Given the description of an element on the screen output the (x, y) to click on. 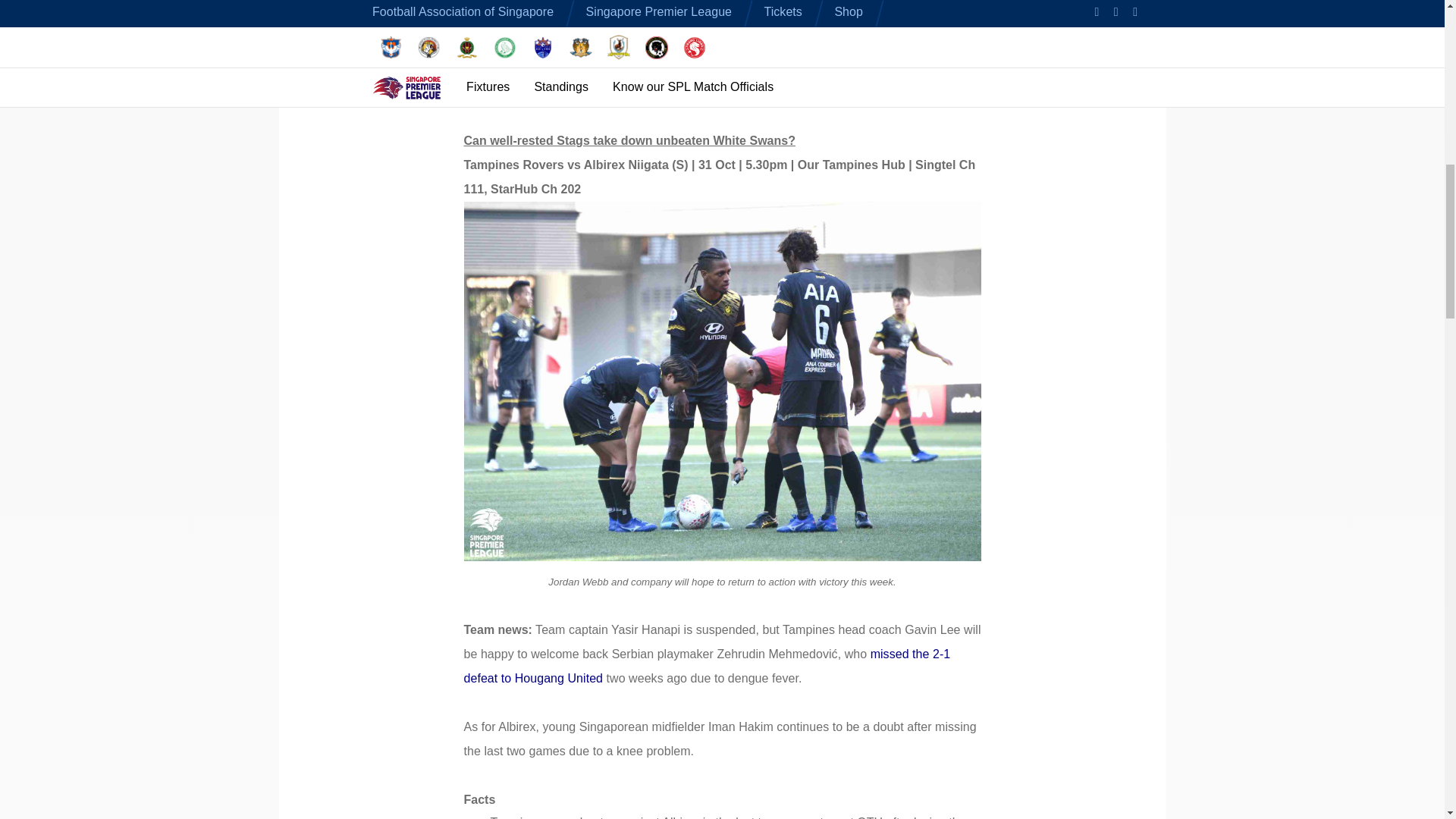
Facebook page (866, 91)
missed the 2-1 defeat to Hougang United (707, 665)
